Given the description of an element on the screen output the (x, y) to click on. 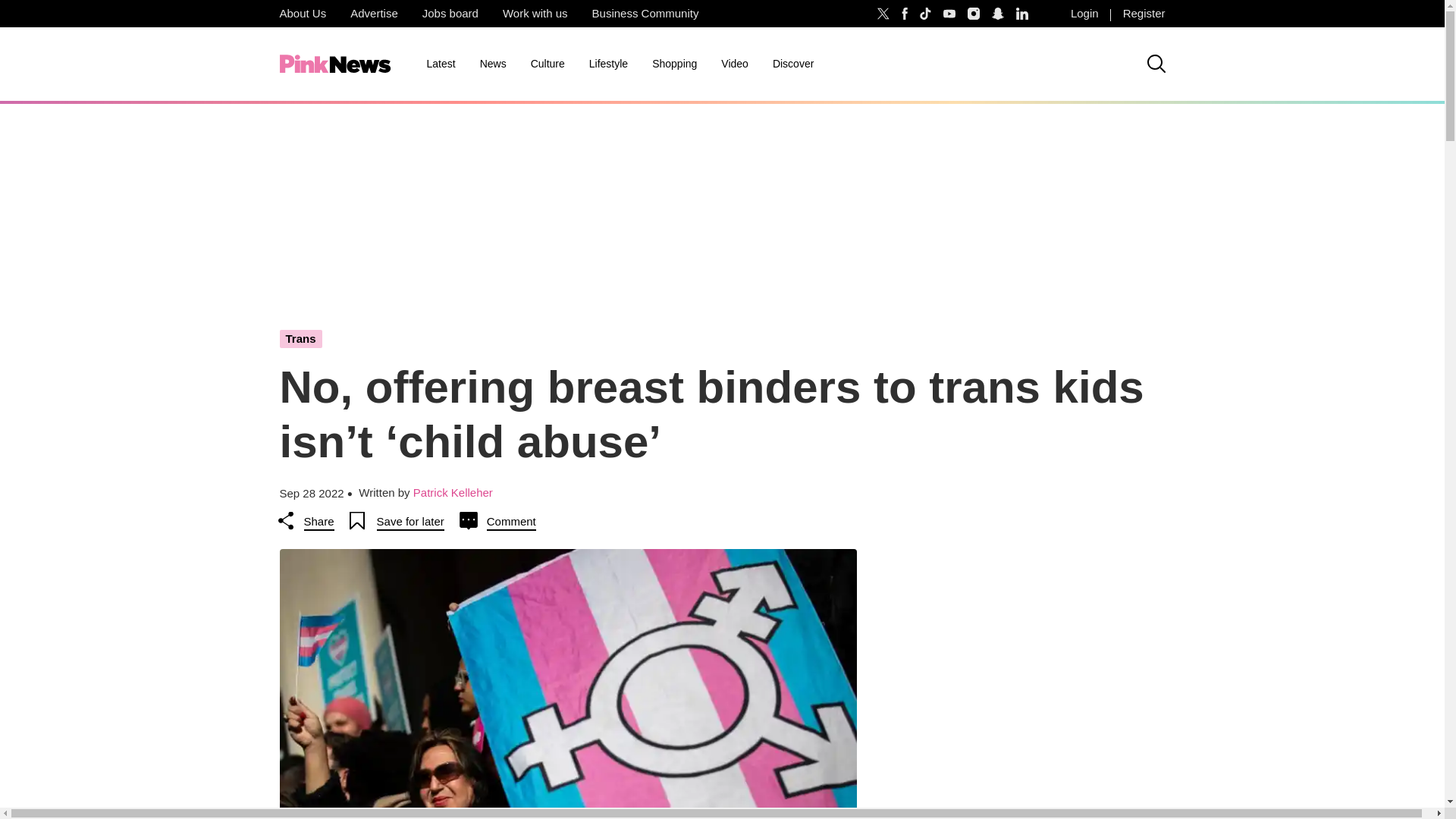
Register (1143, 13)
Culture (547, 63)
Advertise (373, 13)
About Us (301, 13)
Jobs board (450, 13)
Login (1084, 13)
Lifestyle (608, 63)
Work with us (534, 13)
News (493, 63)
Latest (440, 63)
Business Community (645, 13)
Follow PinkNews on LinkedIn (1021, 13)
